Given the description of an element on the screen output the (x, y) to click on. 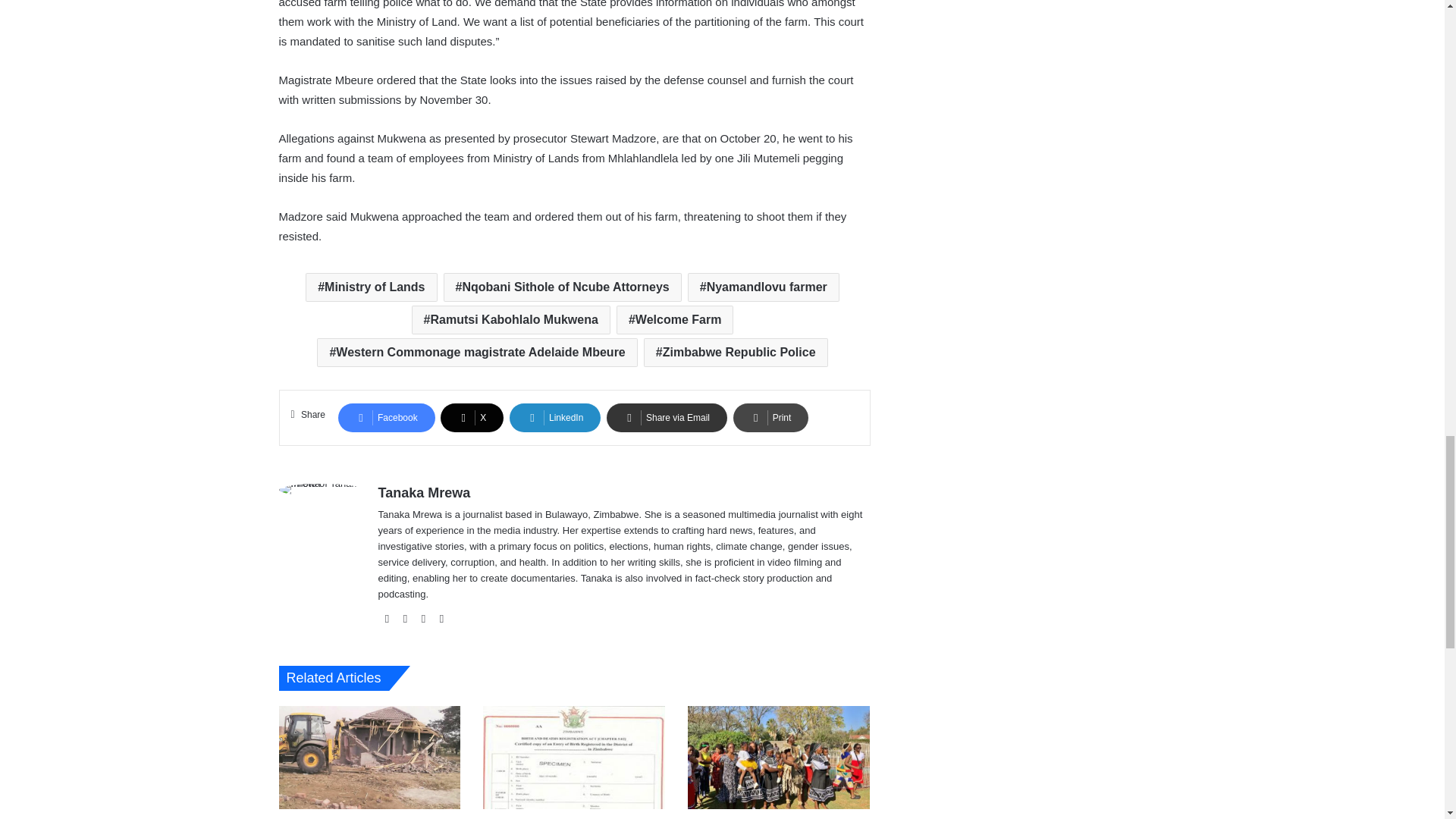
X (472, 417)
LinkedIn (422, 618)
LinkedIn (554, 417)
Share via Email (666, 417)
Facebook (386, 417)
Facebook (386, 417)
Western Commonage magistrate Adelaide Mbeure (477, 352)
Print (771, 417)
Facebook (386, 618)
TikTok (440, 618)
